Given the description of an element on the screen output the (x, y) to click on. 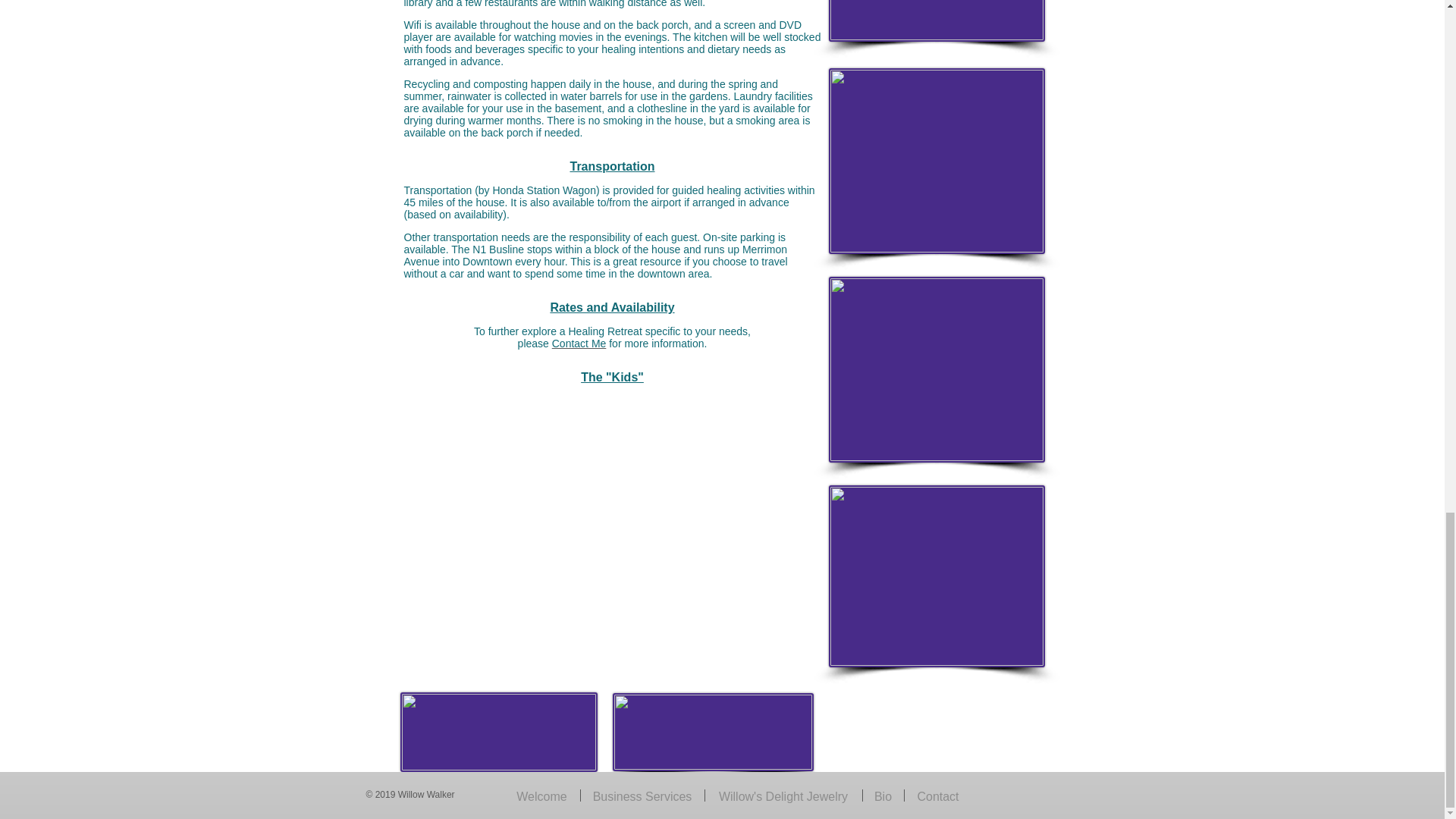
Welcome (541, 795)
Contact Me (579, 343)
Bio (883, 795)
Willow's Delight Jewelry (782, 795)
Business Services (642, 795)
AMC homepage.PNG (935, 20)
DSC05379.JPG (712, 731)
Guest room 5.JPG (935, 576)
photo3.JPG (935, 369)
House and Gardens 111.jpg (935, 160)
